Given the description of an element on the screen output the (x, y) to click on. 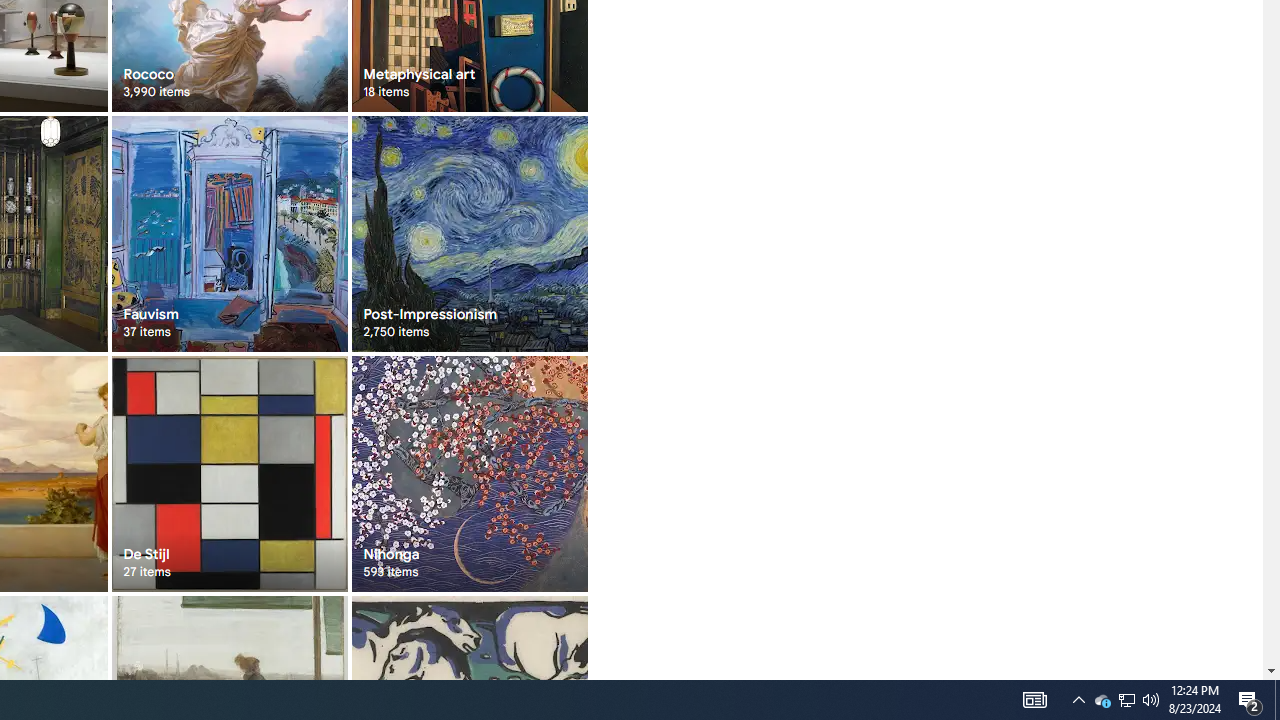
Fauvism 37 items (229, 233)
De Stijl 27 items (229, 473)
Post-Impressionism 2,750 items (468, 233)
Nihonga 593 items (468, 473)
